Given the description of an element on the screen output the (x, y) to click on. 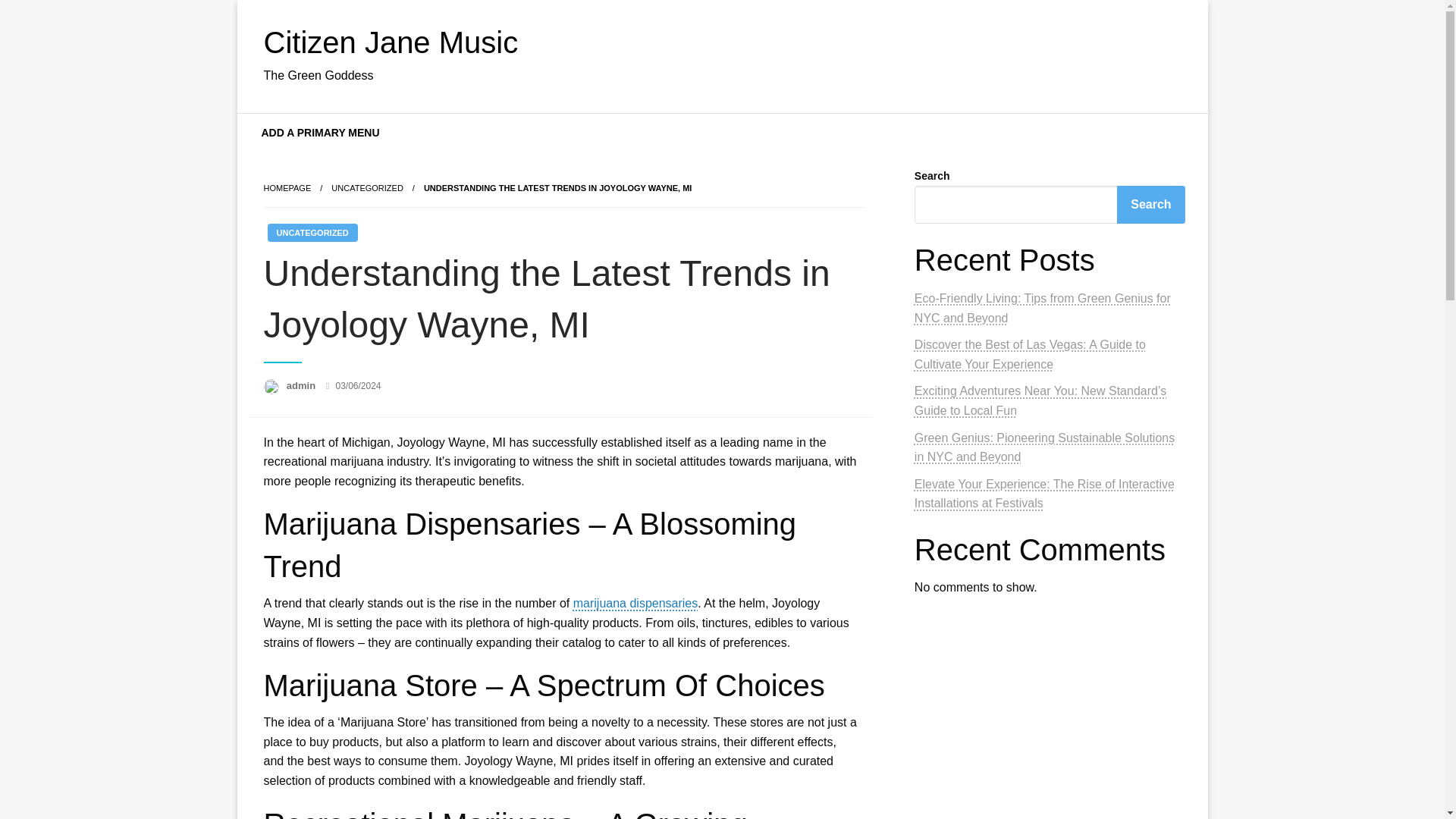
admin (302, 385)
admin (302, 385)
UNCATEGORIZED (311, 232)
Search (1150, 204)
Understanding the Latest Trends in Joyology Wayne, MI (557, 187)
Homepage (287, 187)
Uncategorized (367, 187)
marijuana dispensaries (635, 603)
Citizen Jane Music (390, 41)
ADD A PRIMARY MENU (320, 132)
HOMEPAGE (287, 187)
